Given the description of an element on the screen output the (x, y) to click on. 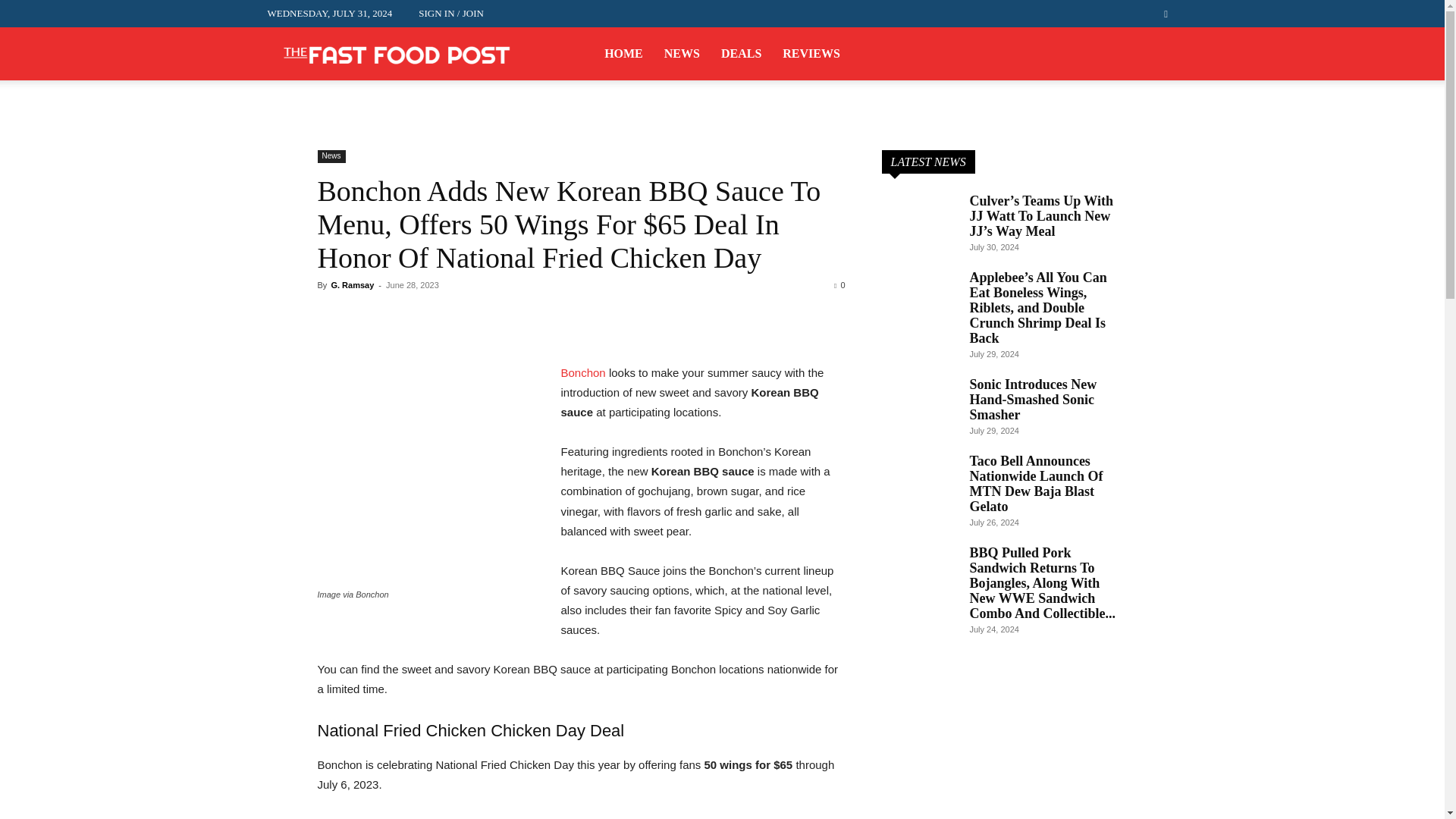
0 (839, 284)
G. Ramsay (352, 284)
DEALS (740, 53)
HOME (623, 53)
News (331, 155)
The Fast Food Post (395, 53)
Search (1134, 70)
NEWS (681, 53)
REVIEWS (811, 53)
